Given the description of an element on the screen output the (x, y) to click on. 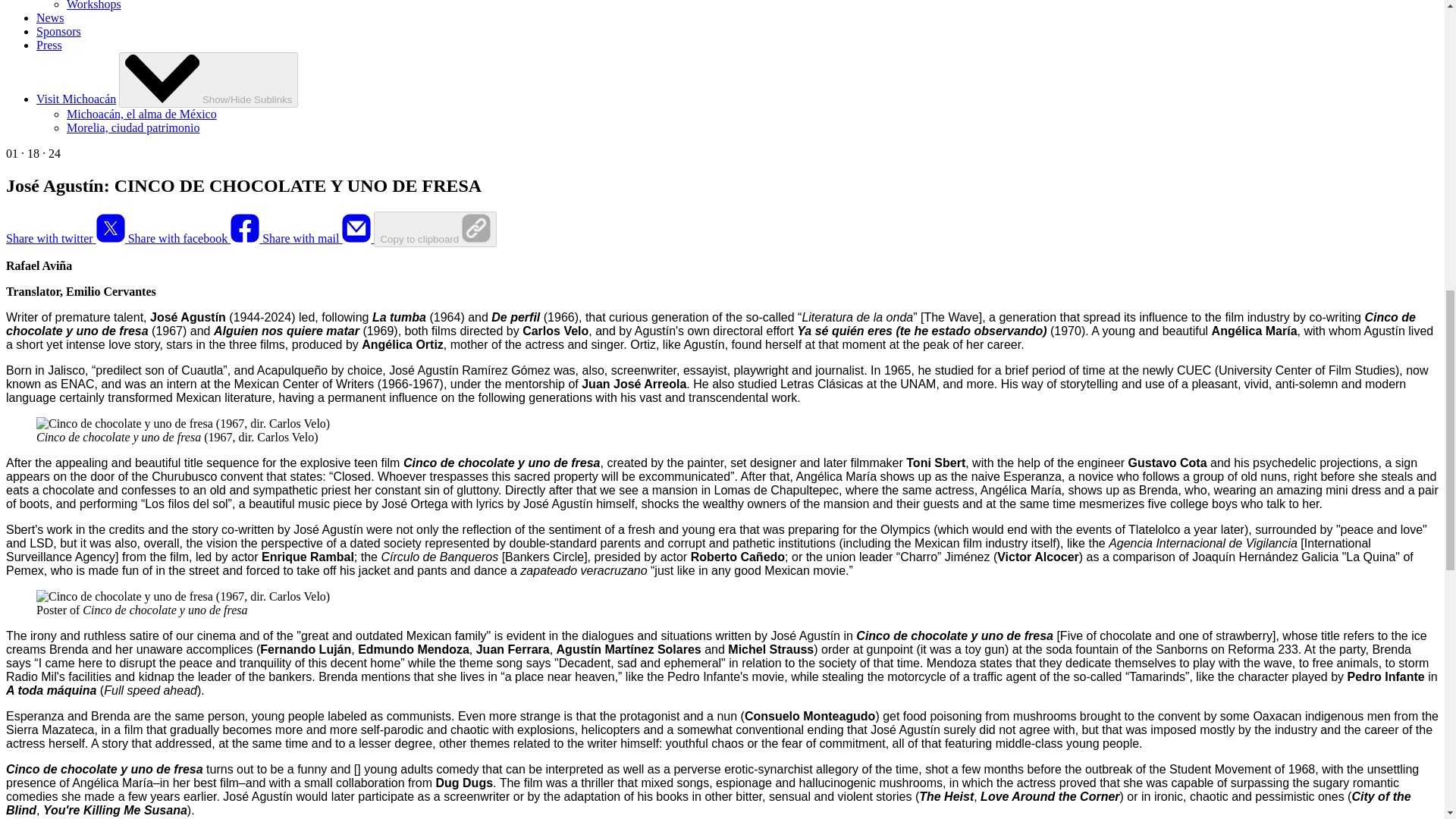
Workshops (93, 5)
Press (49, 44)
News (50, 17)
Sponsors (58, 31)
